Given the description of an element on the screen output the (x, y) to click on. 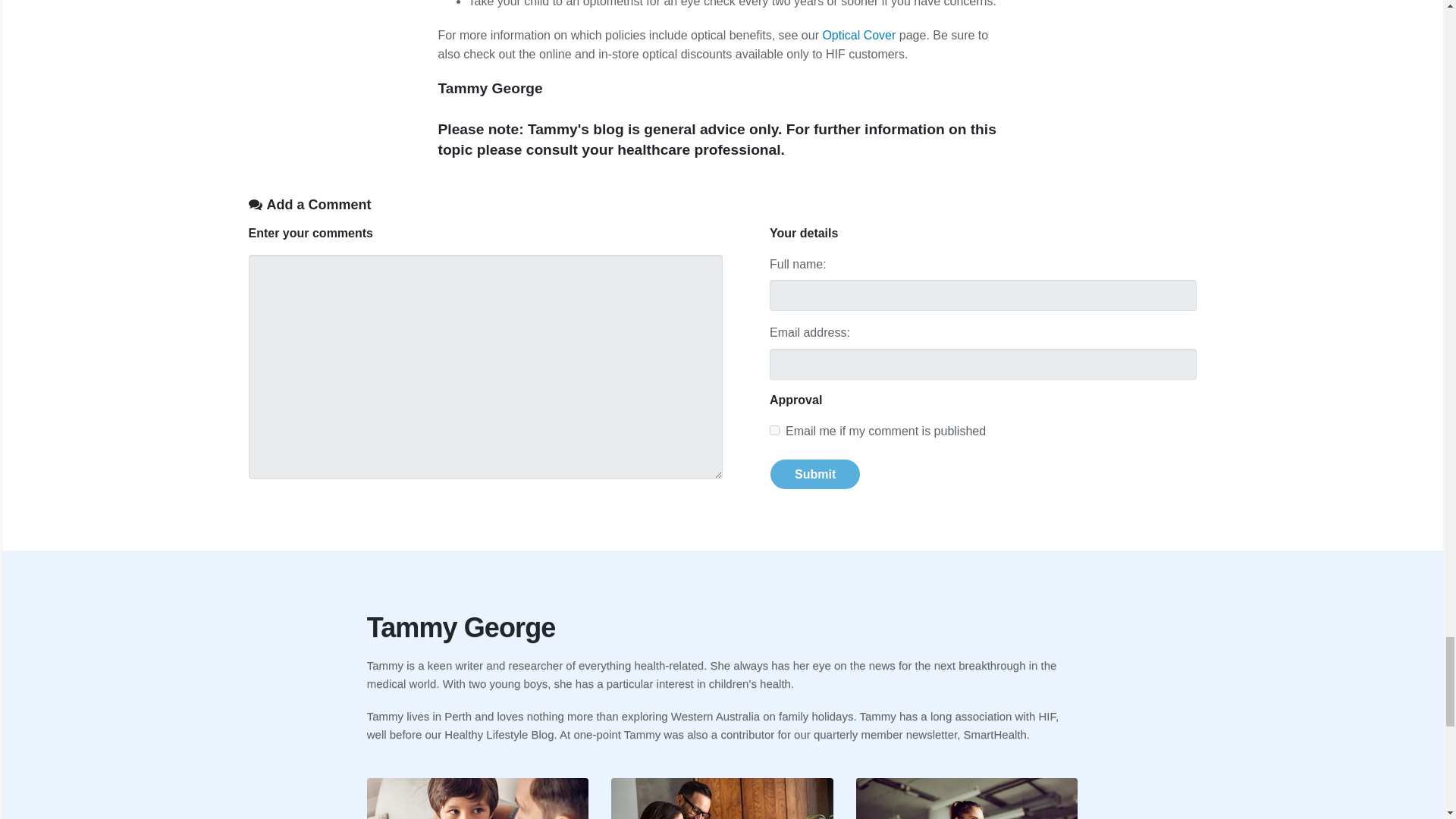
From Two to Three - Couples Health Insurance for Pregnancy (721, 798)
on (774, 429)
Short and Sweet - Can 10 Minutes Make a Difference (966, 798)
Submit (815, 473)
